Given the description of an element on the screen output the (x, y) to click on. 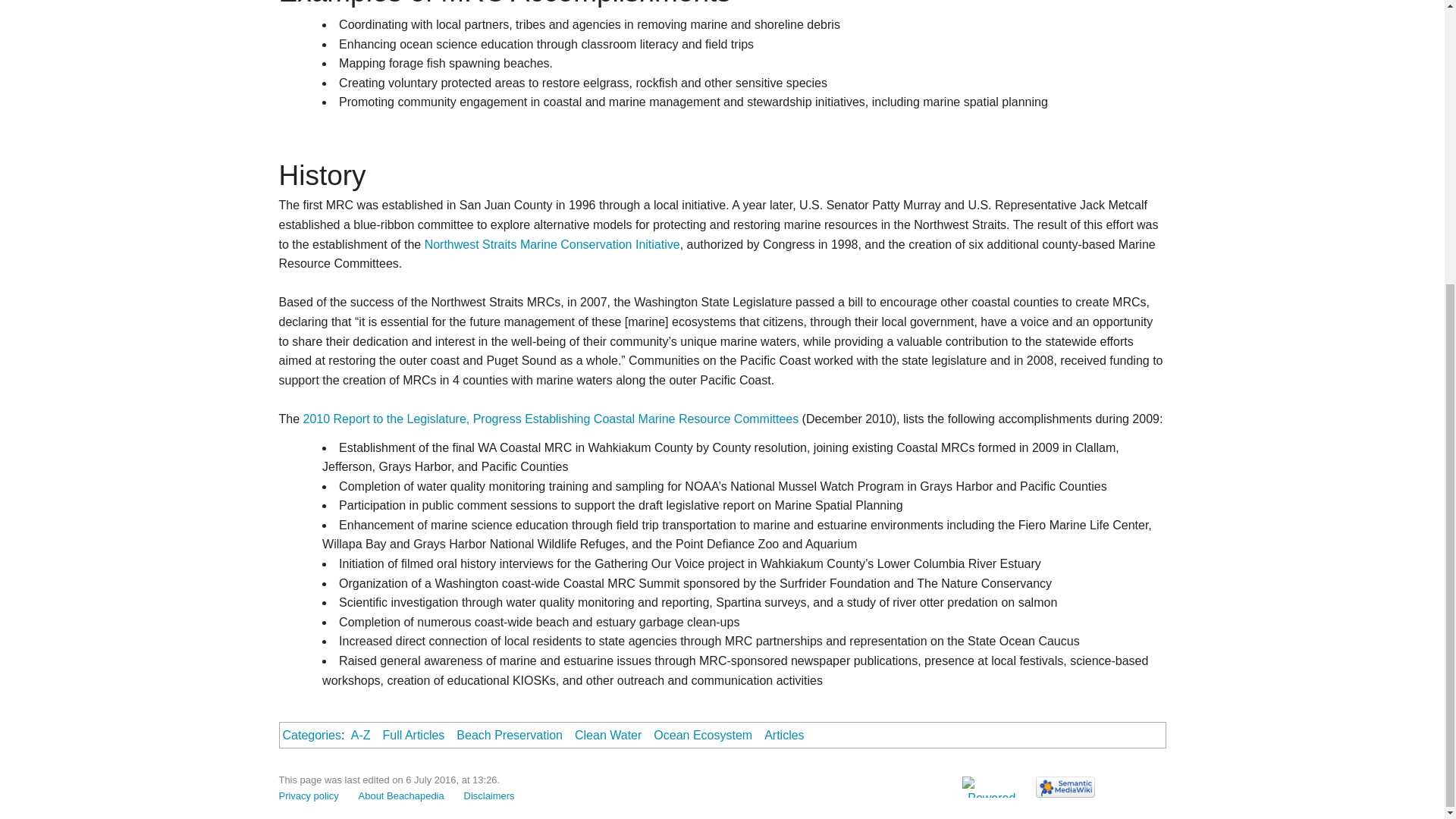
Categories (311, 735)
Category:A-Z (360, 735)
Northwest Straits Marine Conservation Initiative (552, 245)
Category:Full Articles (413, 735)
Category:Beach Preservation (509, 735)
Special:Categories (311, 735)
A-Z (360, 735)
